Given the description of an element on the screen output the (x, y) to click on. 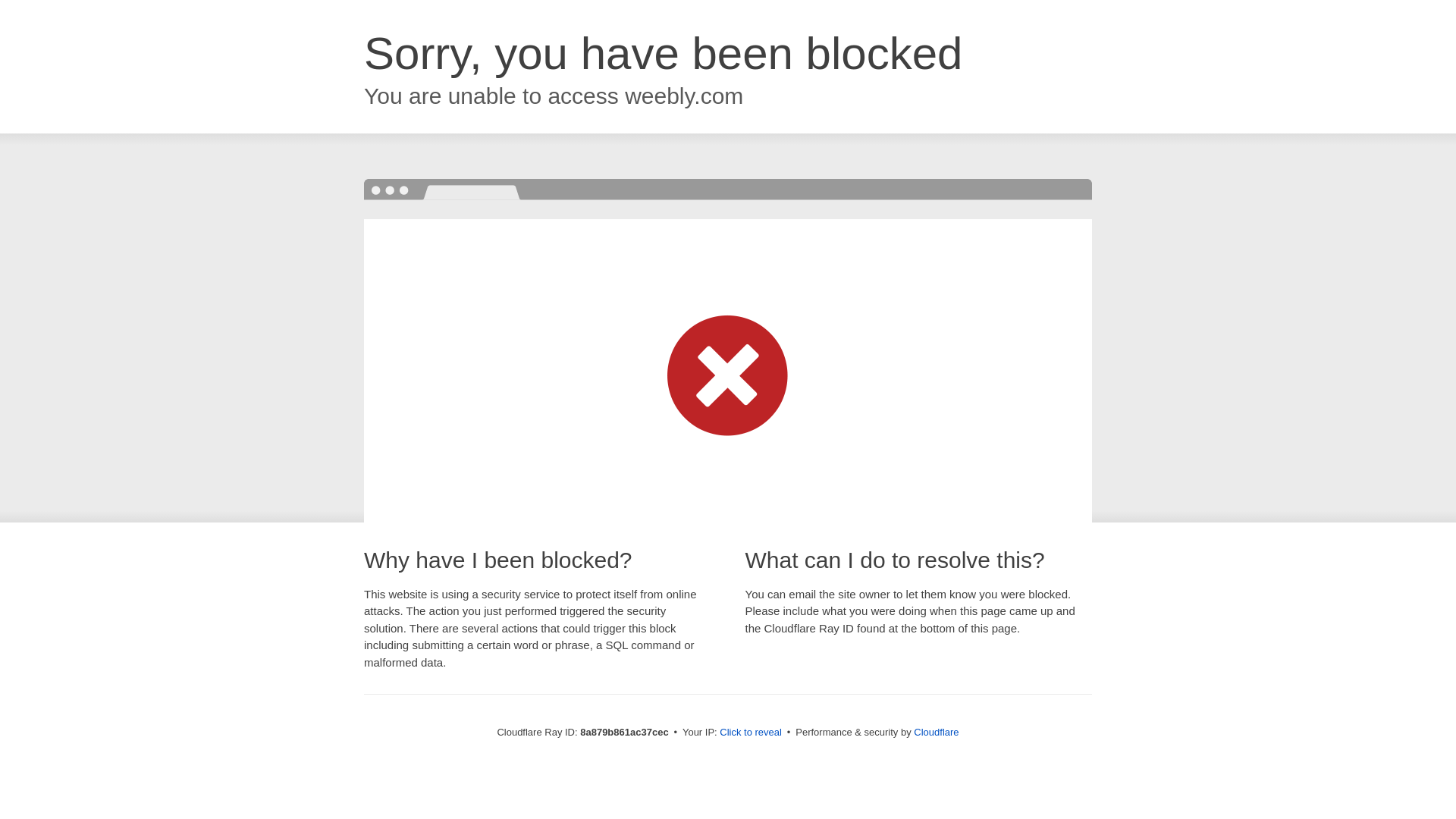
Cloudflare (936, 731)
Click to reveal (750, 732)
